Given the description of an element on the screen output the (x, y) to click on. 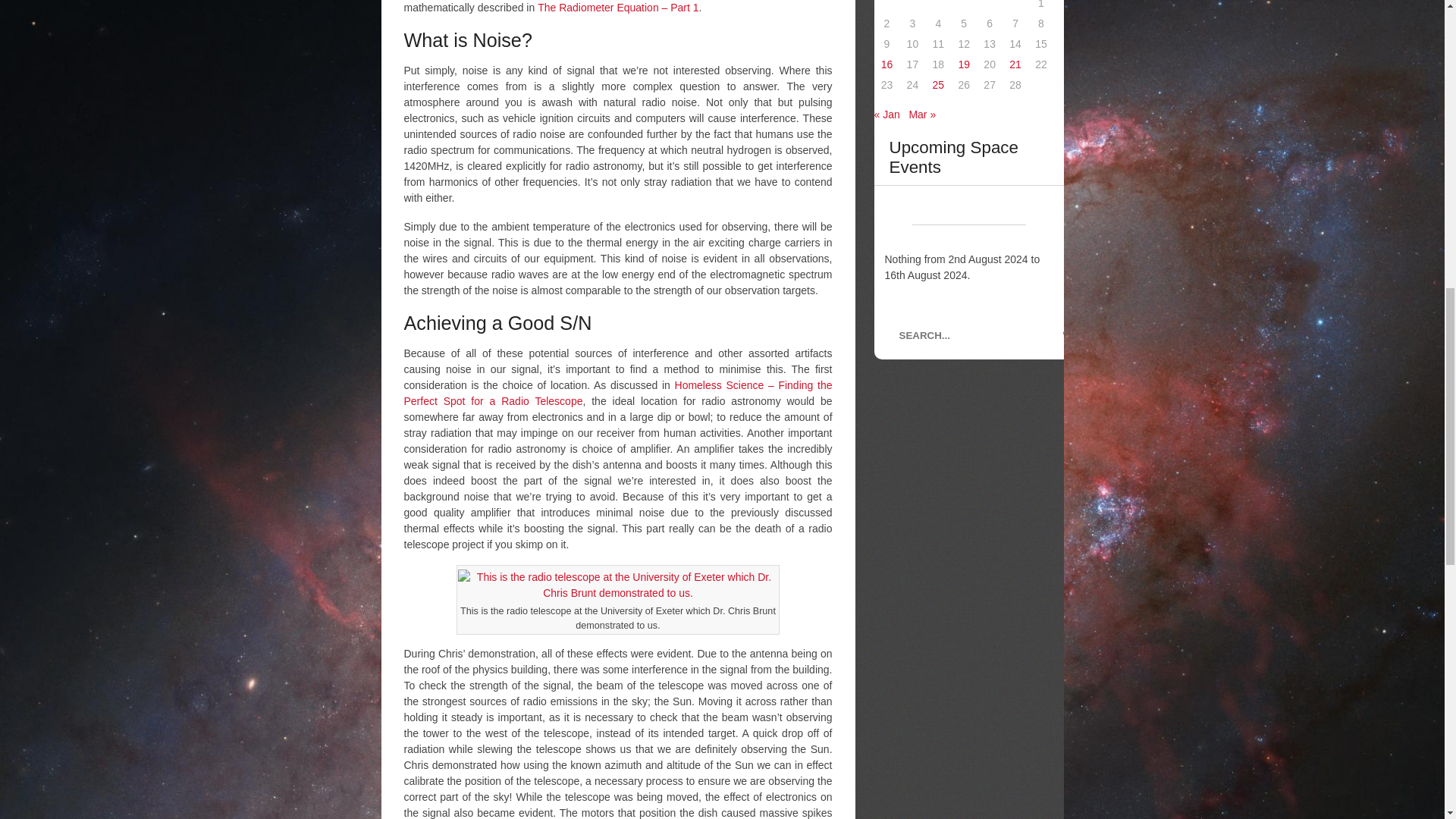
16 (886, 64)
Search... (980, 335)
